Given the description of an element on the screen output the (x, y) to click on. 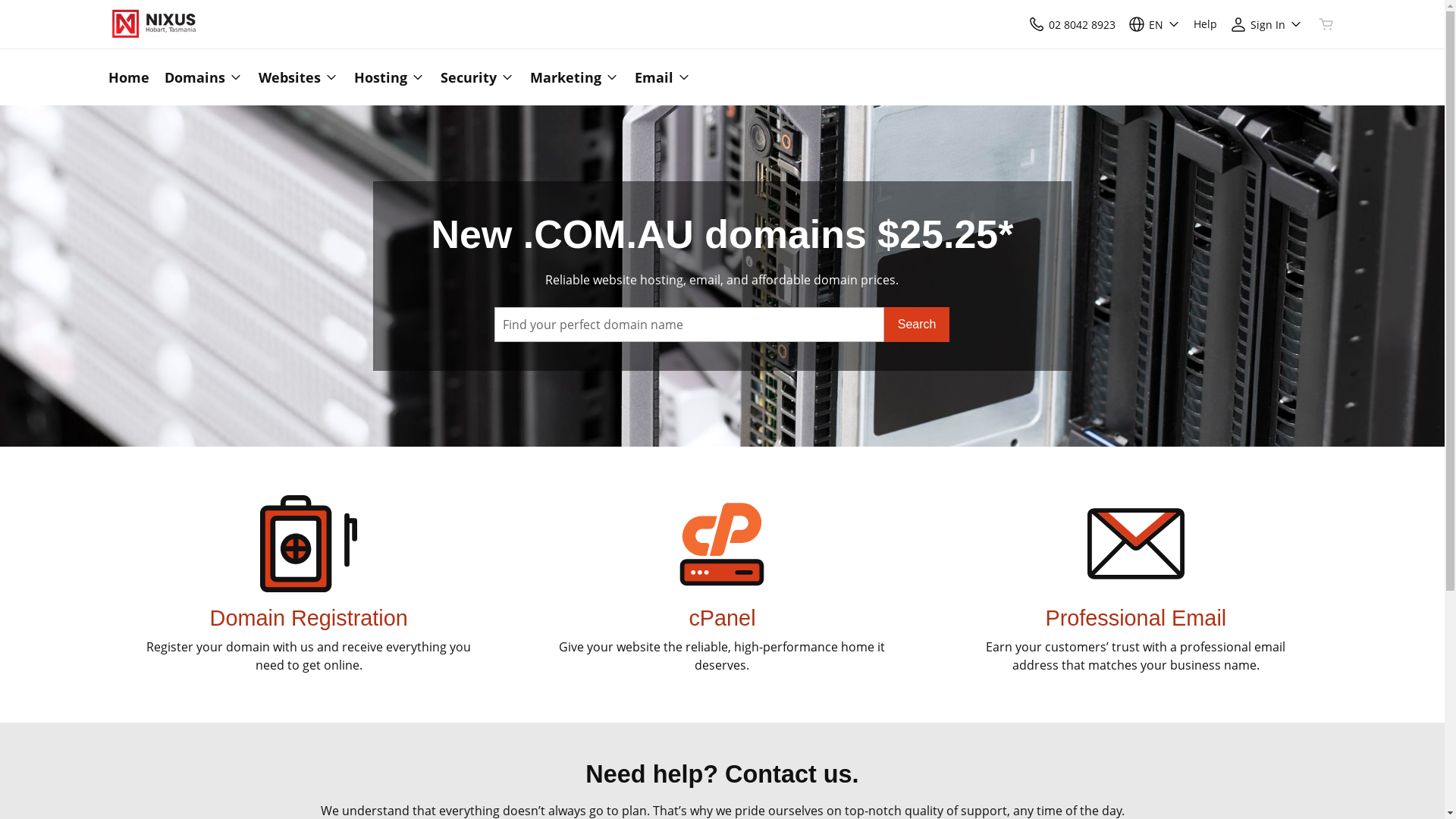
Professional Email Element type: text (1135, 617)
EN Element type: text (1153, 24)
02 8042 8923 Element type: text (1070, 24)
Home Element type: text (131, 77)
cPanel Element type: text (721, 617)
Security Element type: text (476, 77)
Domains Element type: text (203, 77)
Websites Element type: text (297, 77)
Marketing Element type: text (573, 77)
Sign In Element type: text (1265, 24)
Contact Us Element type: hover (1035, 24)
Help Element type: text (1205, 24)
Search Element type: text (917, 324)
Email Element type: text (658, 77)
Domain Registration Element type: text (308, 617)
Hosting Element type: text (388, 77)
